Given the description of an element on the screen output the (x, y) to click on. 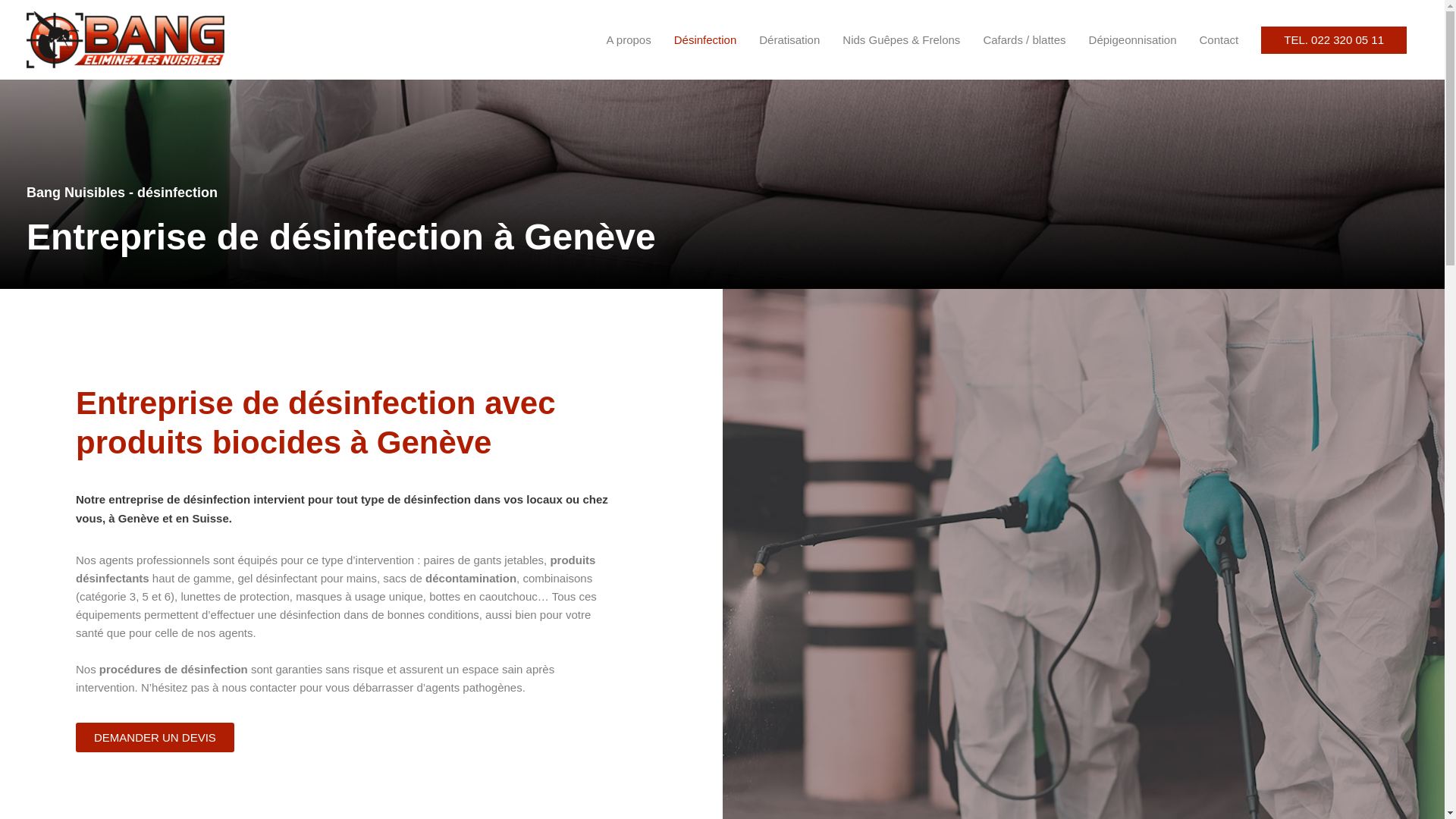
DEMANDER UN DEVIS Element type: text (154, 737)
A propos Element type: text (628, 39)
TEL. 022 320 05 11 Element type: text (1333, 39)
Cafards / blattes Element type: text (1023, 39)
Contact Element type: text (1219, 39)
